Given the description of an element on the screen output the (x, y) to click on. 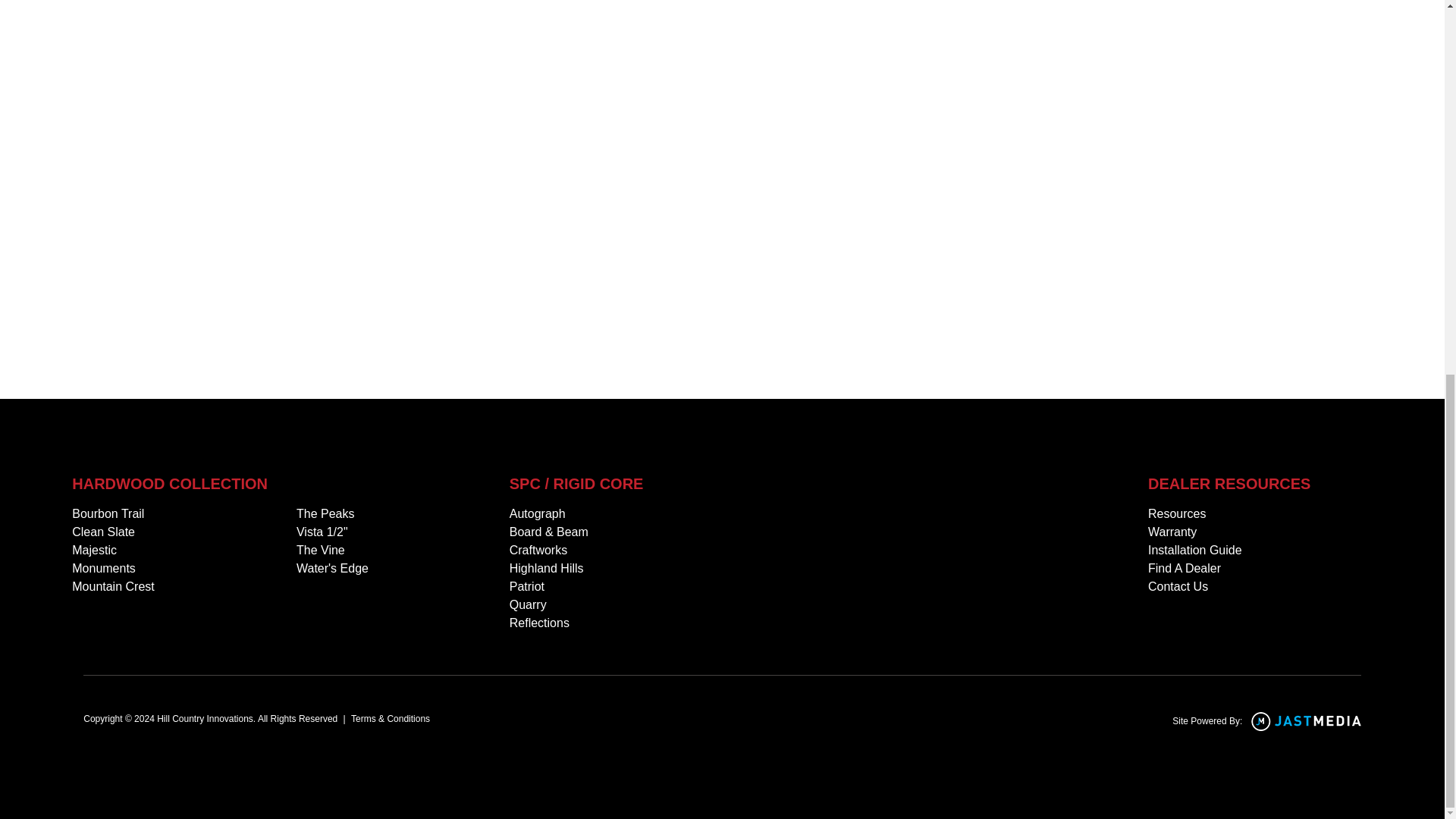
Clean Slate (103, 532)
Mountain Crest (112, 587)
Monuments (103, 568)
Bourbon Trail (107, 514)
Majestic (93, 550)
